Given the description of an element on the screen output the (x, y) to click on. 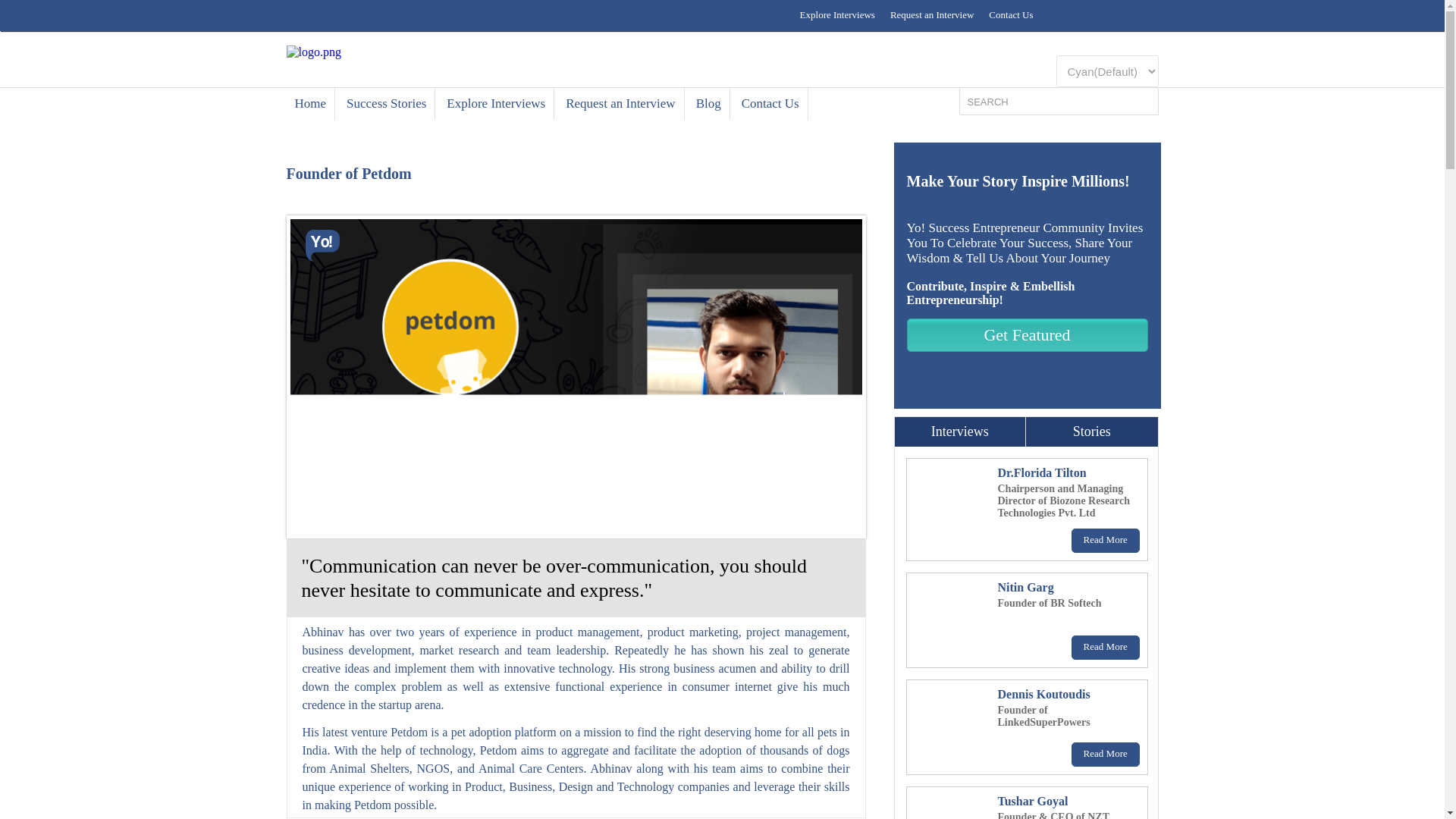
Blog (708, 103)
Contact Us (770, 103)
Recent (1091, 431)
Explore Interviews (496, 103)
Request an Interview (931, 15)
Home (311, 103)
Success Stories (386, 103)
Contact Us (1011, 15)
SEARCH (1048, 101)
Request an Interview (620, 103)
Explore Interviews (837, 15)
Popular (960, 431)
